Given the description of an element on the screen output the (x, y) to click on. 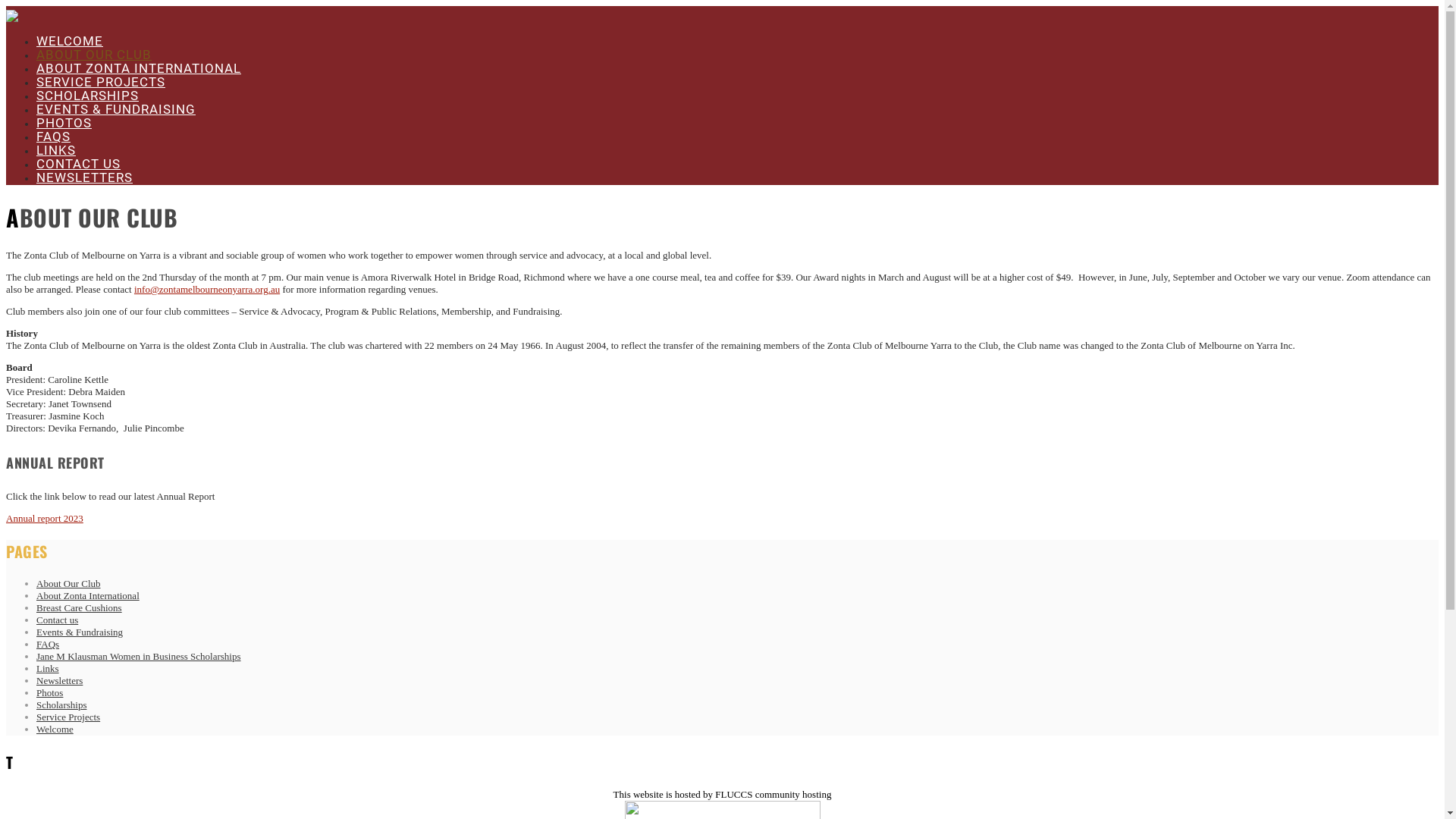
FAQs Element type: text (47, 643)
About Our Club Element type: text (68, 583)
Jane M Klausman Women in Business Scholarships Element type: text (138, 656)
NEWSLETTERS Element type: text (84, 177)
Contact us Element type: text (57, 619)
FAQS Element type: text (53, 136)
info@zontamelbourneonyarra.org.au Element type: text (206, 288)
Zonta Club of Melbourne on Yarra Element type: hover (12, 18)
LINKS Element type: text (55, 149)
CONTACT US Element type: text (78, 163)
Welcome Element type: text (54, 728)
Annual report 2023 Element type: text (44, 518)
Newsletters Element type: text (59, 680)
SERVICE PROJECTS Element type: text (100, 81)
Links Element type: text (47, 668)
Photos Element type: text (49, 692)
Breast Care Cushions Element type: text (79, 607)
SCHOLARSHIPS Element type: text (87, 95)
ABOUT ZONTA INTERNATIONAL Element type: text (138, 67)
ABOUT OUR CLUB Element type: text (93, 54)
Scholarships Element type: text (61, 704)
WELCOME Element type: text (69, 40)
Service Projects Element type: text (68, 716)
Events & Fundraising Element type: text (79, 631)
About Zonta International Element type: text (87, 595)
EVENTS & FUNDRAISING Element type: text (115, 108)
PHOTOS Element type: text (63, 122)
